Given the description of an element on the screen output the (x, y) to click on. 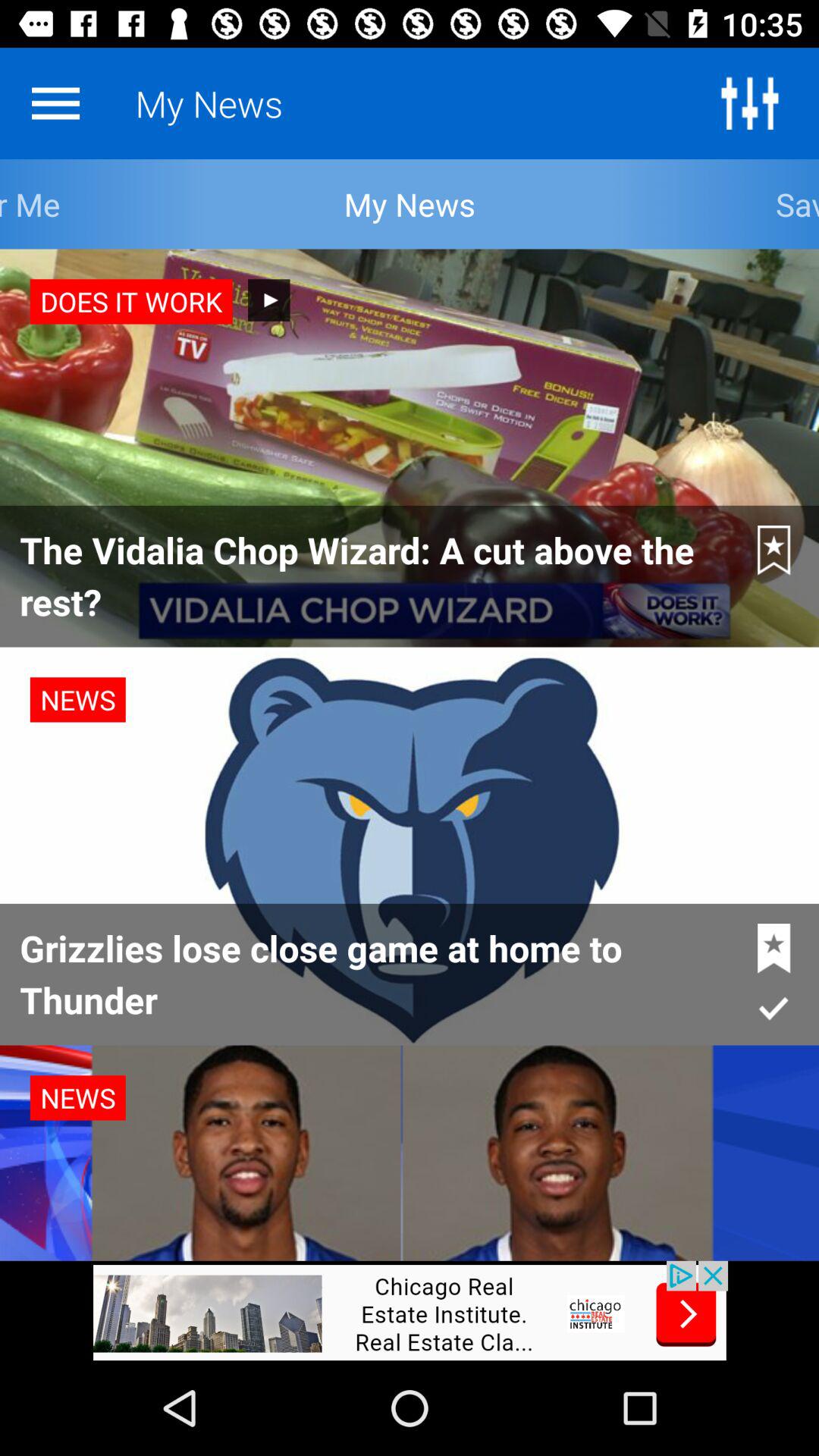
advertisement banner (409, 1310)
